Given the description of an element on the screen output the (x, y) to click on. 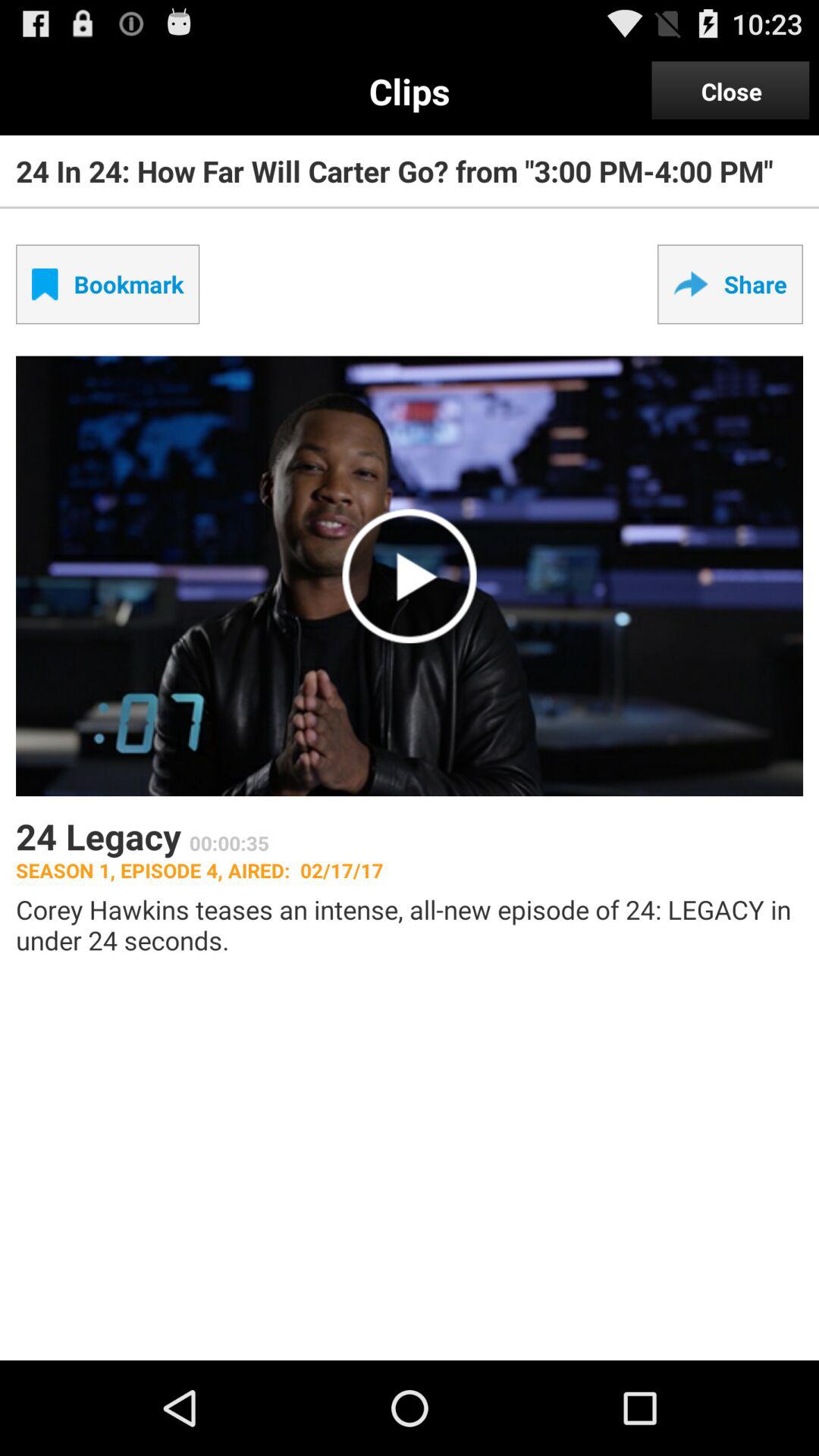
select checkbox next to the bookmark (730, 284)
